Given the description of an element on the screen output the (x, y) to click on. 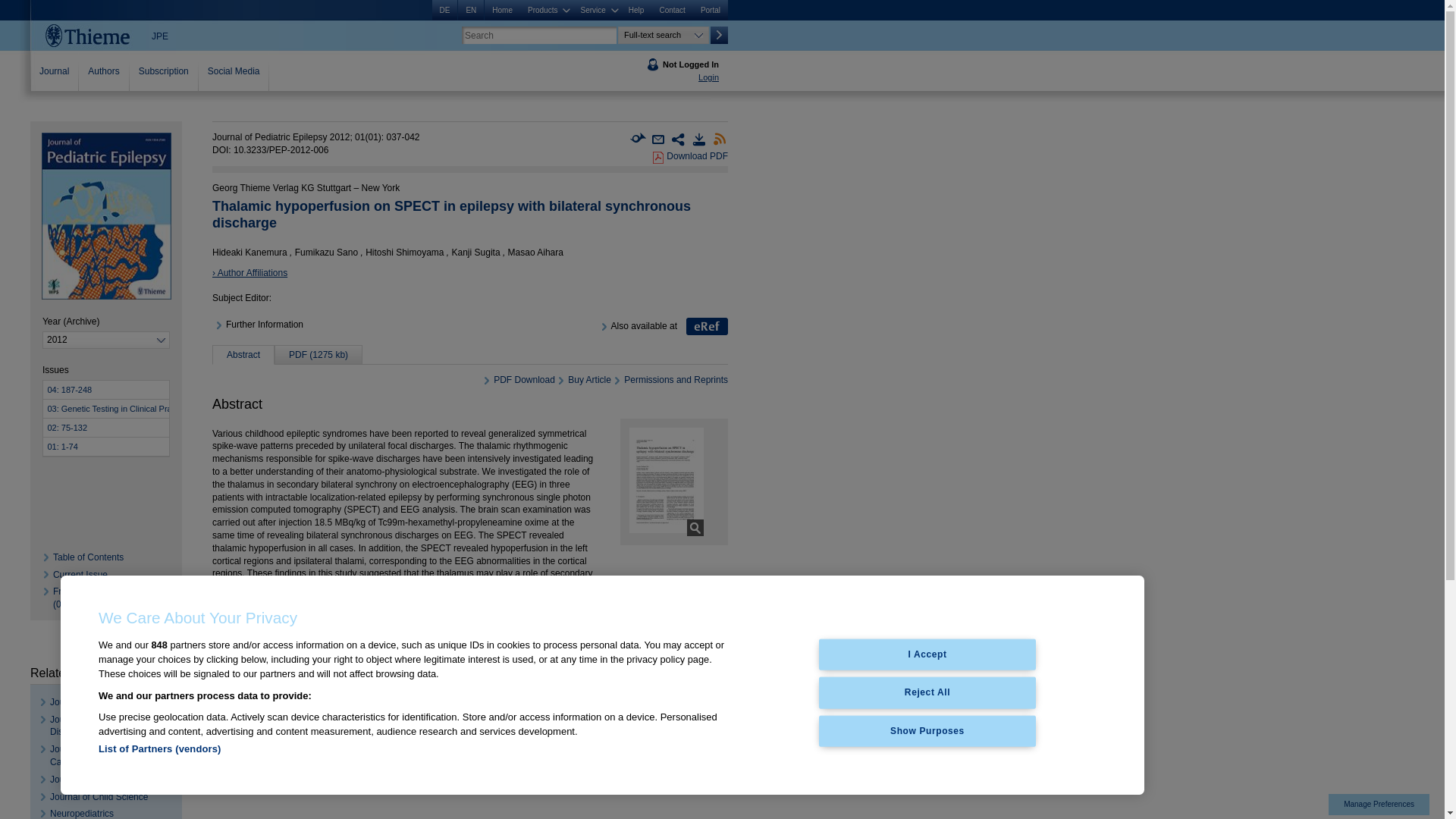
Login (708, 76)
Download Bibliographical Data (698, 139)
Authors (103, 70)
Help (636, 10)
Journal (54, 70)
Subscription (163, 70)
Social Media (233, 70)
Recommend Article (657, 139)
Home (501, 10)
Subscribe to Alert Service (637, 139)
PDF Download (657, 158)
Contact (671, 10)
Portal (710, 10)
DE (445, 10)
Subscribe to RSS (719, 139)
